Given the description of an element on the screen output the (x, y) to click on. 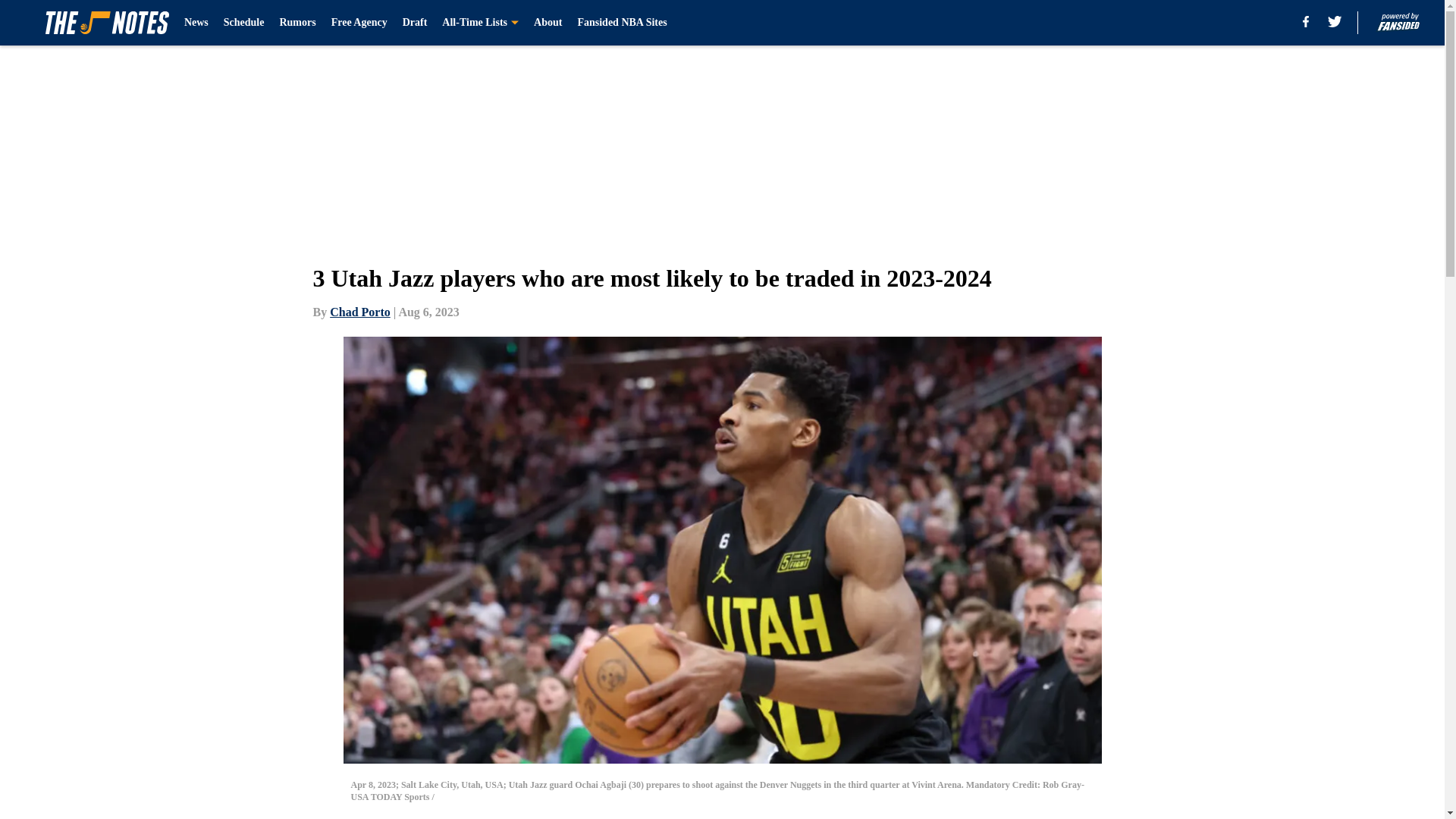
Schedule (244, 22)
All-Time Lists (480, 22)
Fansided NBA Sites (621, 22)
About (548, 22)
Chad Porto (360, 311)
Free Agency (359, 22)
News (196, 22)
Draft (415, 22)
Rumors (297, 22)
